Given the description of an element on the screen output the (x, y) to click on. 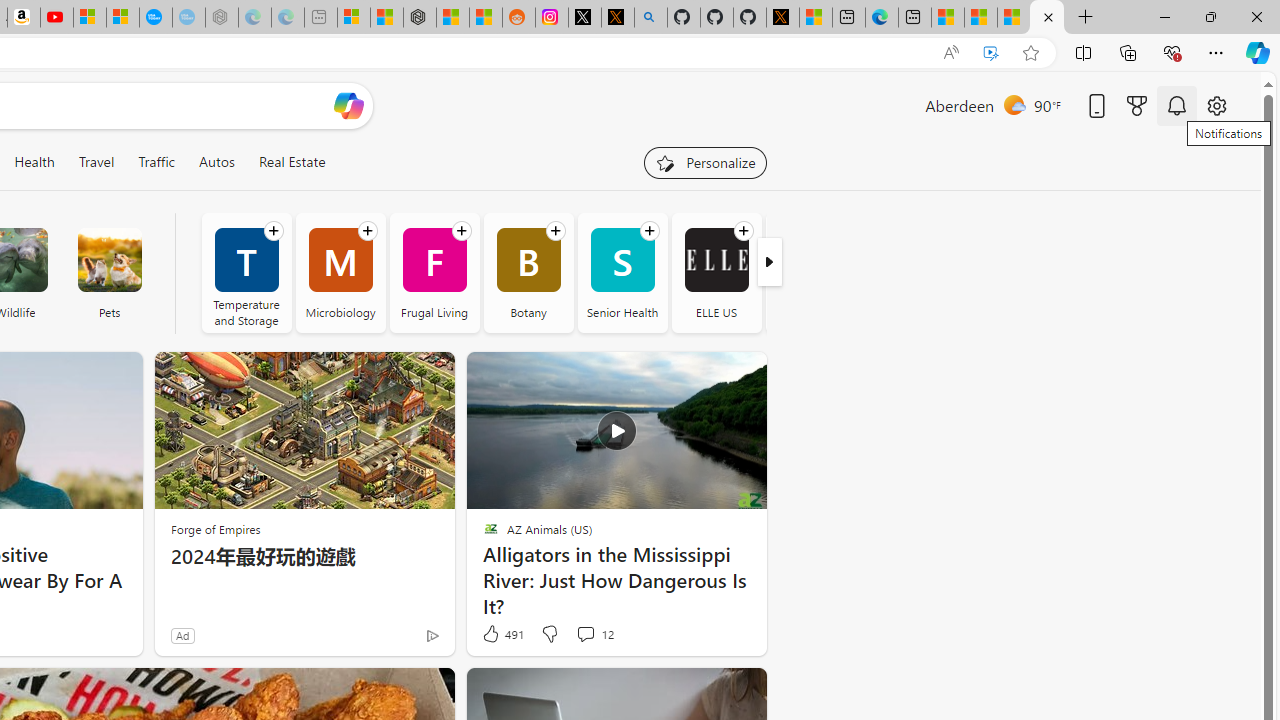
Autos (216, 161)
Frugal Living (434, 272)
ELLE US (715, 272)
